Given the description of an element on the screen output the (x, y) to click on. 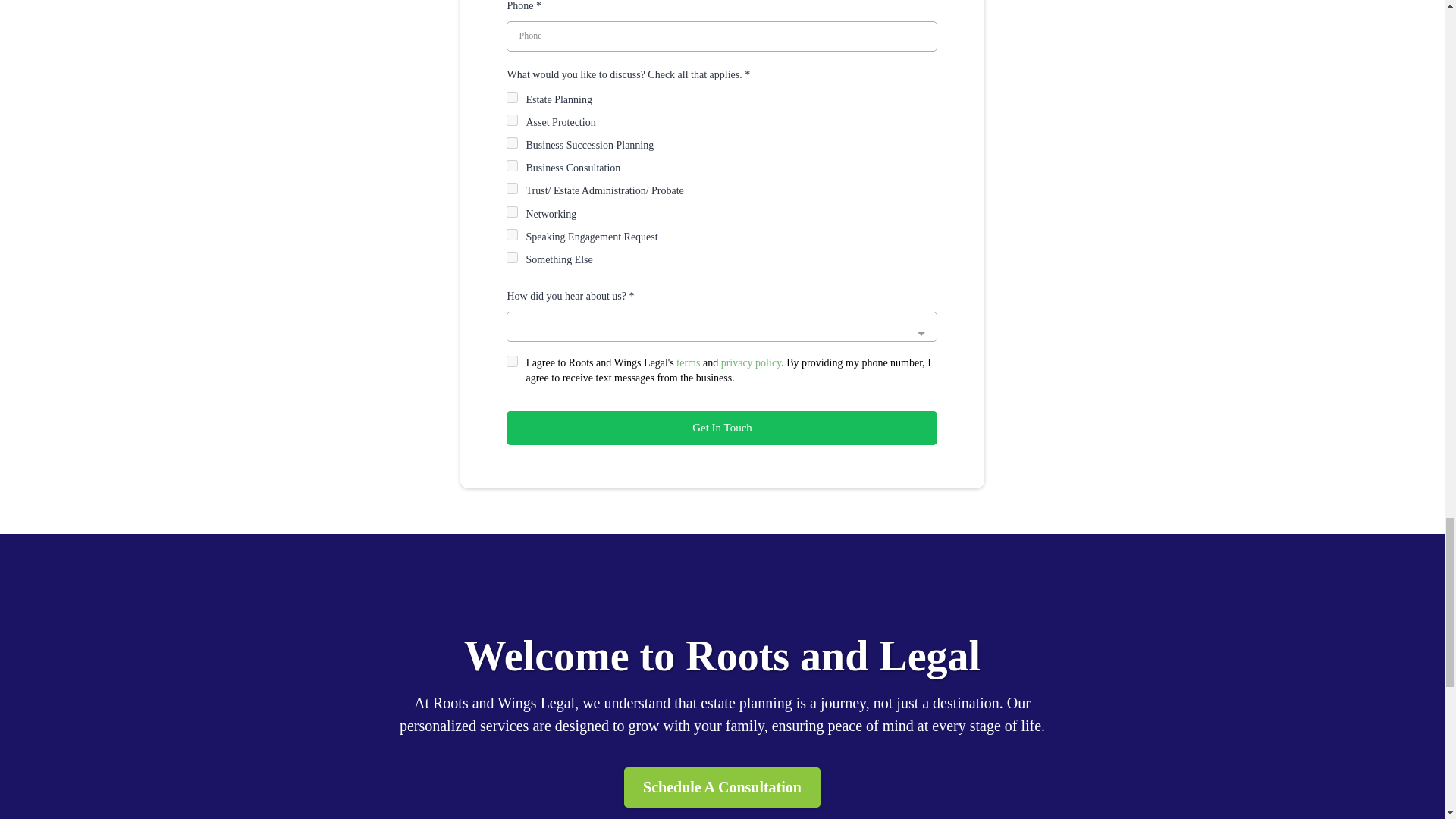
Business Succession Planning (512, 142)
Something Else (512, 256)
Speaking Engagement Request (512, 234)
Asset Protection (512, 120)
Estate Planning (512, 97)
Business Consultation (512, 165)
Schedule A Consultation (722, 787)
terms (688, 362)
Get In Touch (721, 428)
Networking (512, 211)
